Given the description of an element on the screen output the (x, y) to click on. 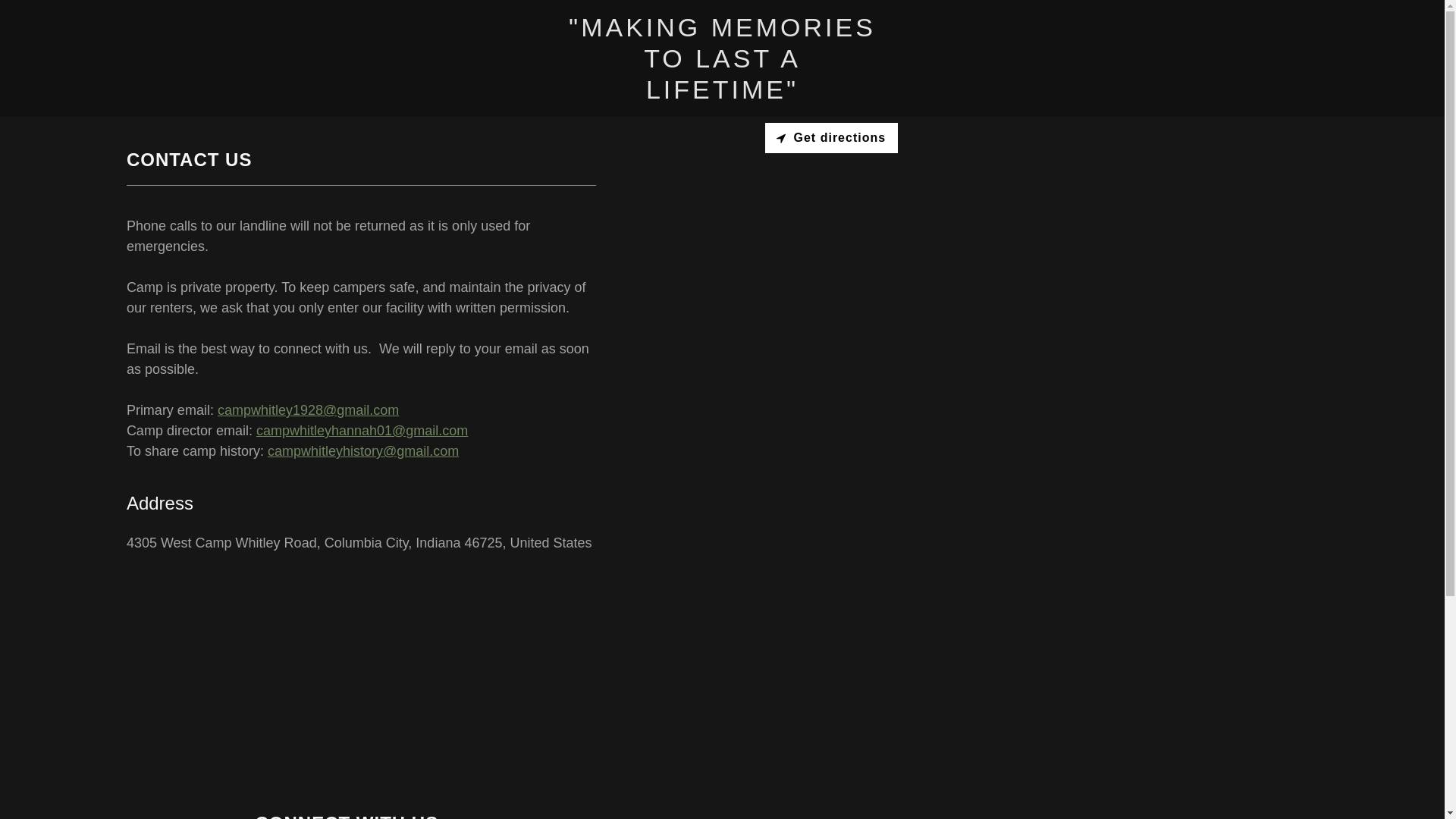
"MAKING MEMORIES TO LAST A LIFETIME" (721, 93)
"Making memories to last a lifetime" (721, 93)
